Given the description of an element on the screen output the (x, y) to click on. 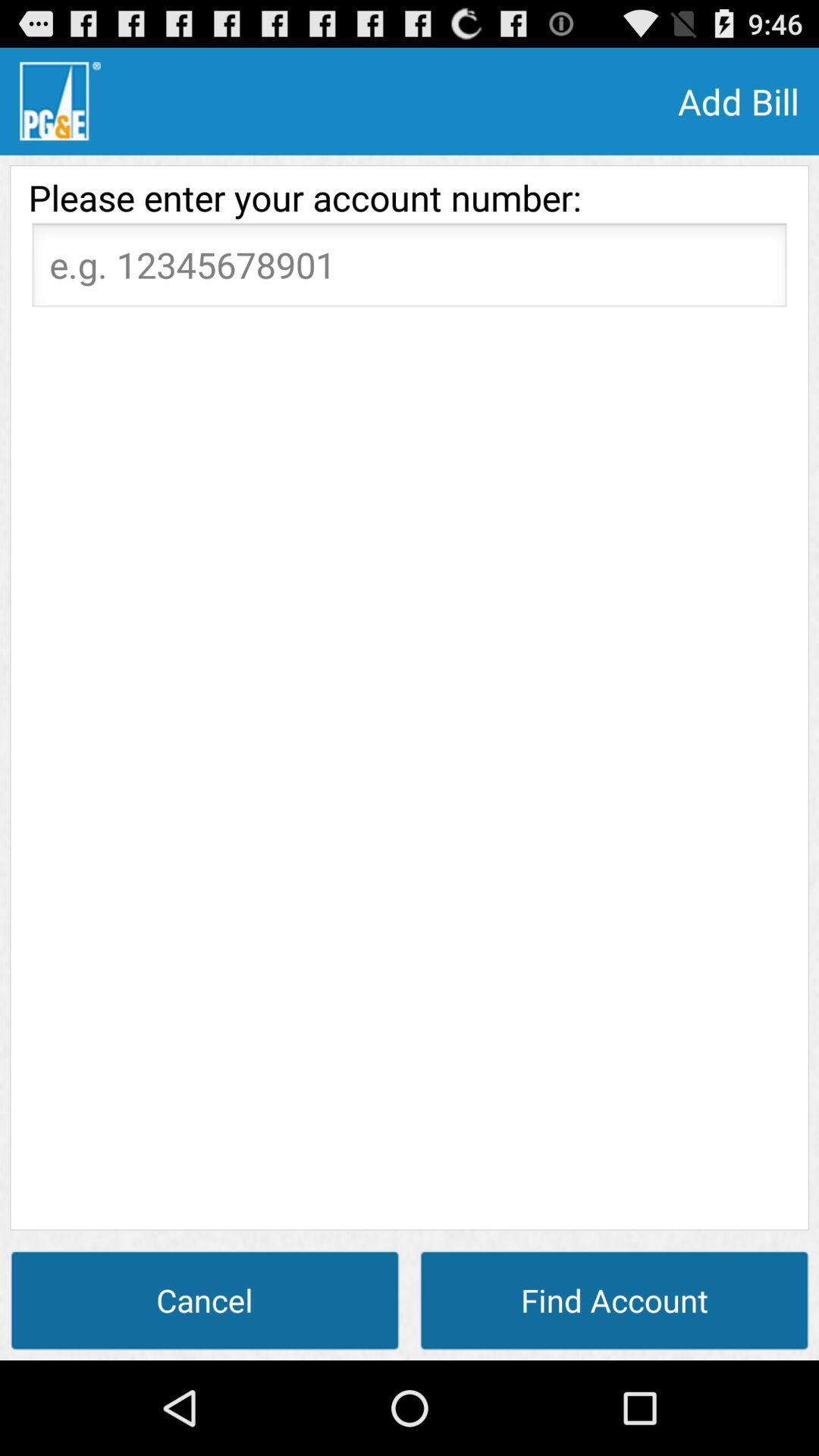
turn off app above please enter your (59, 100)
